Given the description of an element on the screen output the (x, y) to click on. 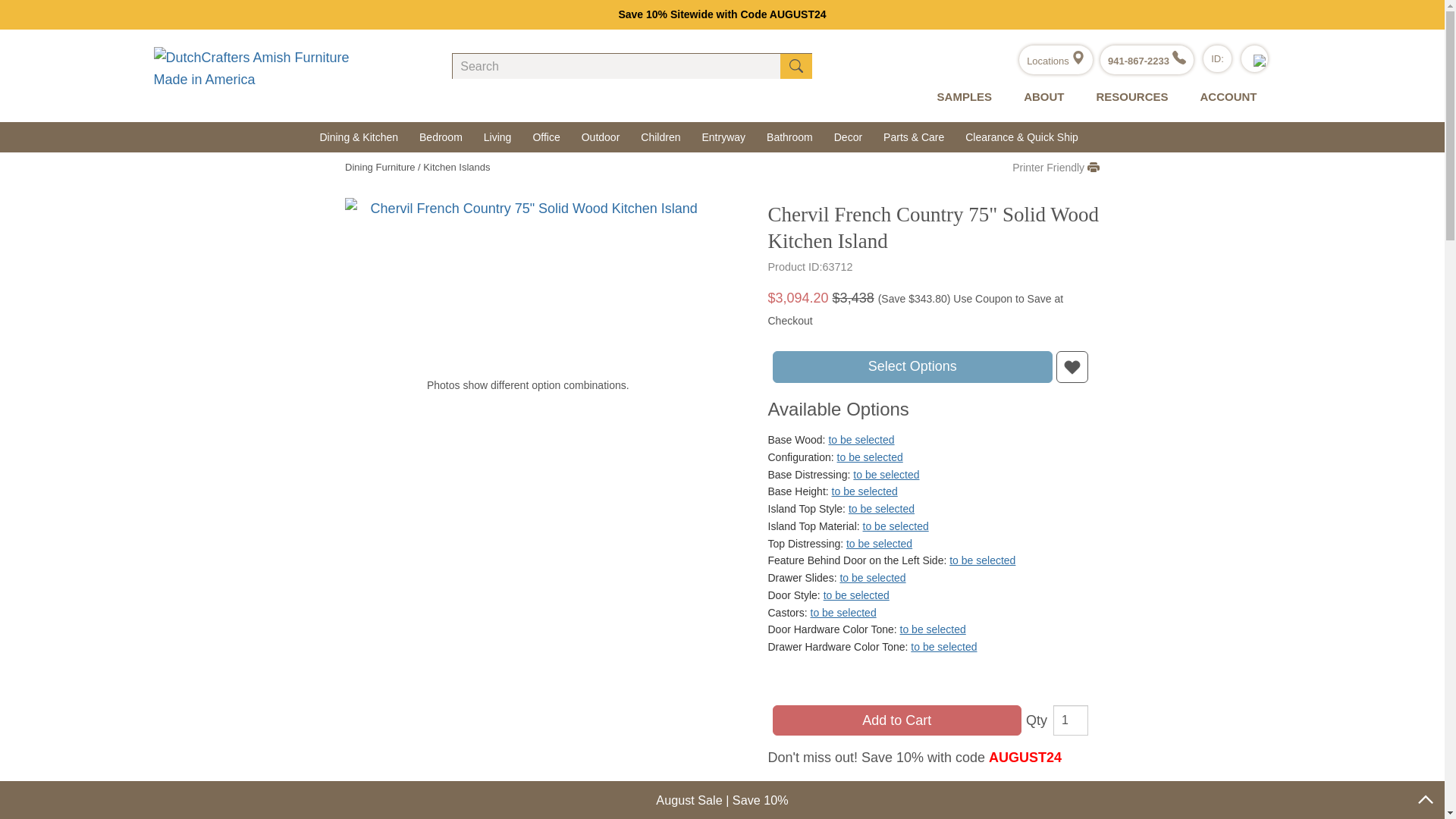
941-867-2233 (1147, 60)
Locations (1055, 60)
ACCOUNT (1224, 96)
ABOUT (1039, 96)
RESOURCES (1128, 96)
SAMPLES (961, 96)
1 (1069, 720)
